Given the description of an element on the screen output the (x, y) to click on. 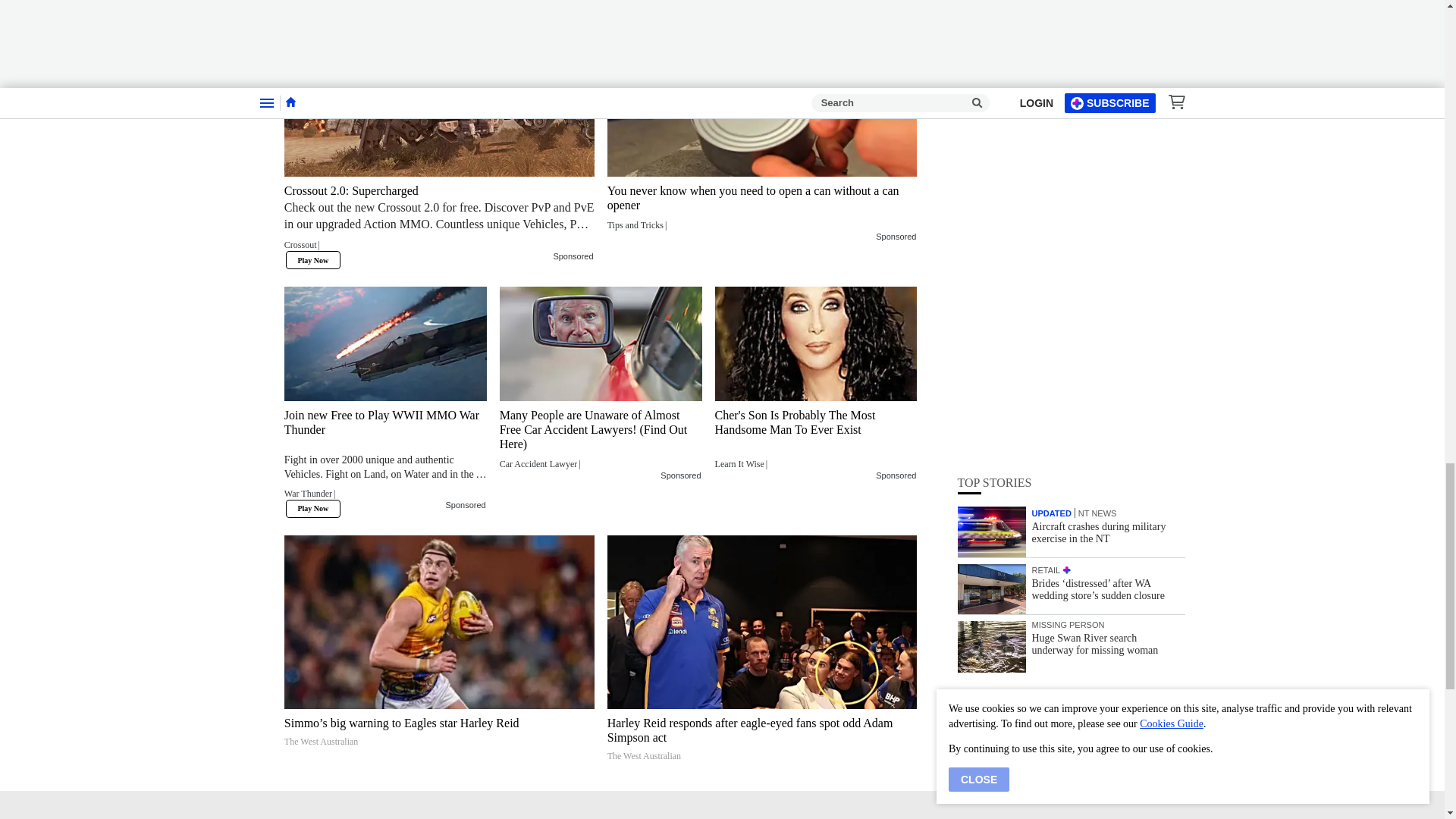
Crossout 2.0: Supercharged (438, 222)
